Given the description of an element on the screen output the (x, y) to click on. 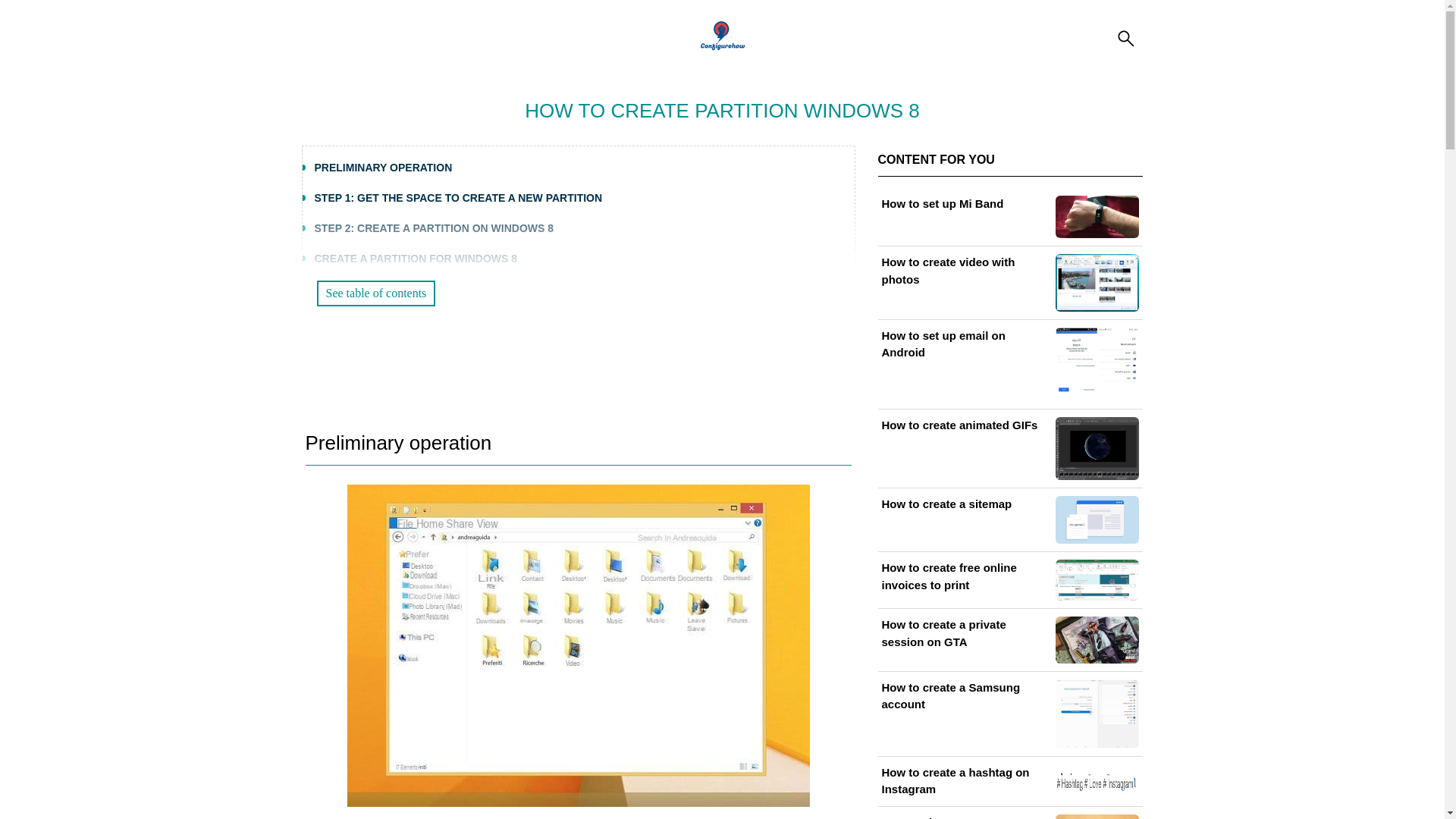
How to create a Samsung account (1009, 713)
CREATE A PARTITION FOR WINDOWS 8 (415, 258)
Preliminary operation (398, 442)
How to choose a secure password (1009, 816)
PRELIMINARY OPERATION (382, 167)
How to create free online invoices to print (1009, 579)
How to create video with photos (1009, 282)
STEP 1: GET THE SPACE TO CREATE A NEW PARTITION (458, 197)
STEP 2: CREATE A PARTITION ON WINDOWS 8 (433, 227)
How to set up Mi Band (1009, 217)
